Given the description of an element on the screen output the (x, y) to click on. 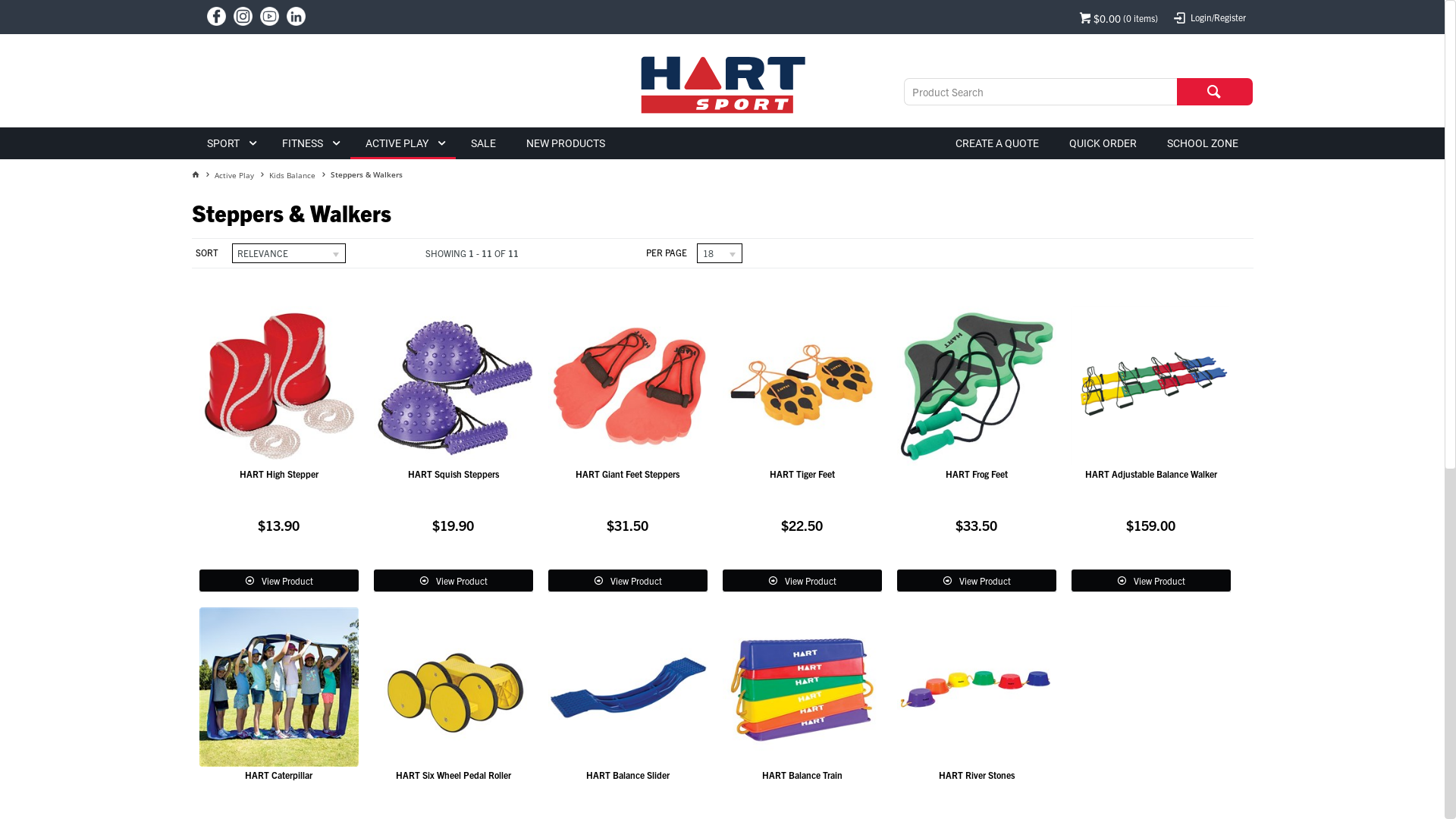
View Product Element type: text (801, 580)
HART Tiger Feet  Element type: hover (801, 385)
SPORT Element type: text (228, 143)
HART Giant Feet Steppers Element type: text (627, 473)
33-553 Element type: hover (626, 385)
HART Six Wheel Pedal Roller Element type: text (453, 774)
View Product Element type: text (975, 580)
HART River Stones Element type: text (976, 774)
HART Caterpillar Element type: text (278, 774)
View Product Element type: text (452, 580)
33-141 Element type: hover (975, 385)
View Product Element type: text (277, 580)
HART Adjustable Balance Walker Element type: hover (1150, 385)
HART Squish Steppers Element type: text (452, 473)
CREATE A QUOTE Element type: text (997, 143)
ACTIVE PLAY Element type: text (402, 143)
NEW PRODUCTS Element type: text (565, 143)
HART Squish Steppers Element type: hover (452, 385)
HART High Stepper Element type: hover (277, 385)
HART Balance Train Element type: text (801, 774)
Kids Balance Element type: text (298, 174)
33-615 Element type: hover (975, 686)
$0.00 (0 items) Element type: text (1117, 17)
HART Caterpillar  Element type: hover (277, 686)
Active Play Element type: text (240, 174)
View Product Element type: text (626, 580)
HART Six Wheel Pedal Roller  Element type: hover (452, 686)
HART Balance Slider  Element type: hover (626, 686)
FITNESS Element type: text (308, 143)
SCHOOL ZONE Element type: text (1201, 143)
HART Balance Train Element type: hover (801, 686)
HART Frog Feet Element type: text (975, 473)
SALE Element type: text (482, 143)
HART Balance Slider Element type: text (626, 774)
HART Adjustable Balance Walker Element type: text (1150, 473)
HART High Stepper Element type: text (278, 473)
HART Tiger Feet Element type: text (801, 473)
View Product Element type: text (1150, 580)
Login/Register Element type: text (1208, 17)
QUICK ORDER Element type: text (1102, 143)
